Given the description of an element on the screen output the (x, y) to click on. 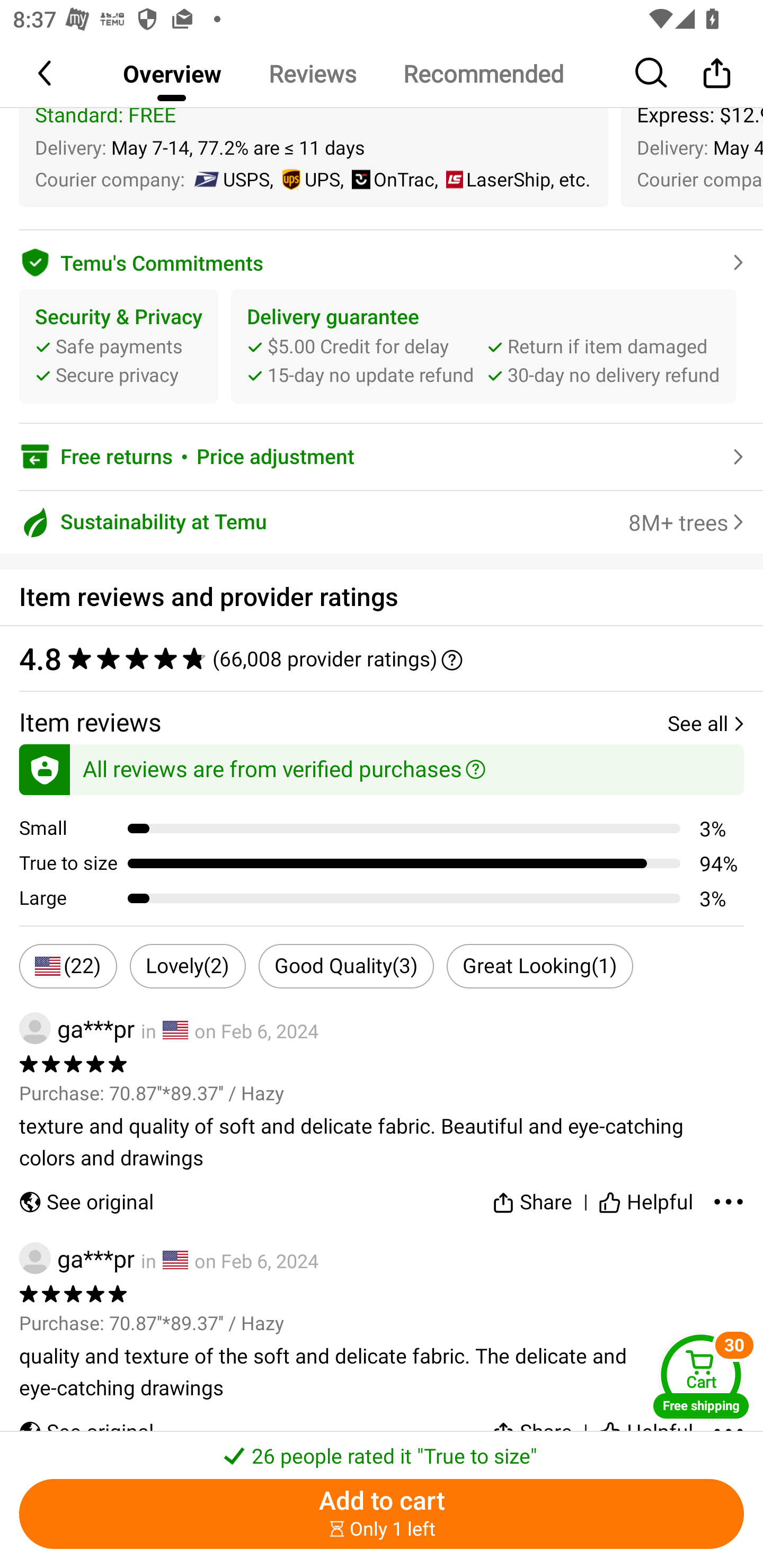
Overview (171, 72)
Reviews (311, 72)
Recommended (482, 72)
Back (46, 72)
Share (716, 72)
Temu's Commitments (381, 259)
Security & Privacy Safe payments Secure privacy (118, 345)
Free returns￼Price adjustment (381, 456)
Sustainability at Temu 8M+ trees (381, 521)
4.8 ‪(66,008 provider ratings) (371, 658)
All reviews are from verified purchases  (381, 766)
Small True to size Large 3% 94% 3% (391, 862)
(22) (67, 965)
Lovely(2) (187, 965)
Good Quality(3) (346, 965)
Great Looking(1) (539, 965)
